Given the description of an element on the screen output the (x, y) to click on. 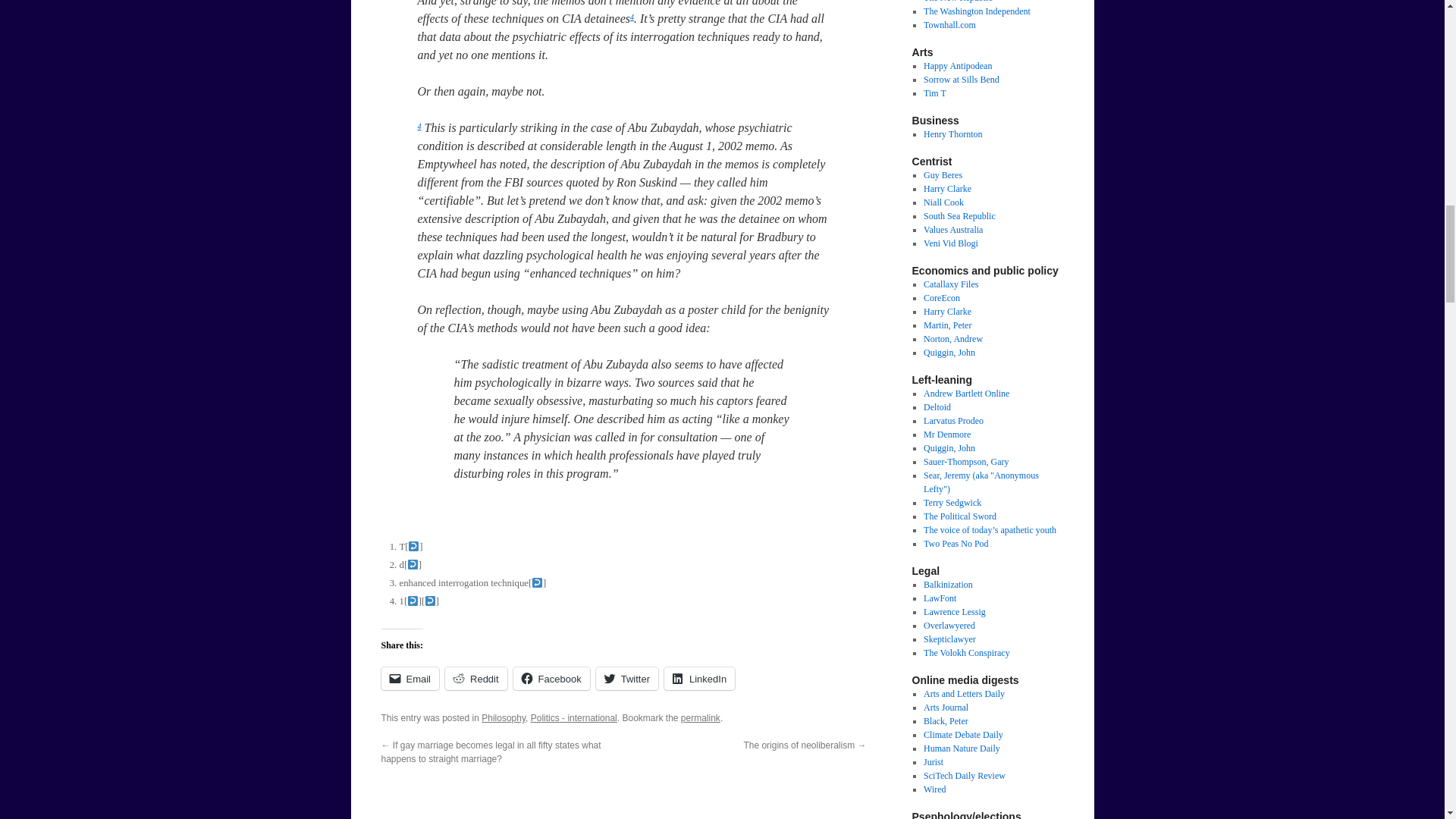
Facebook (551, 678)
Click to share on Twitter (626, 678)
permalink (700, 717)
Click to email a link to a friend (409, 678)
Click to share on Reddit (475, 678)
LinkedIn (699, 678)
Philosophy (503, 717)
Twitter (626, 678)
Click to share on Facebook (551, 678)
Email (409, 678)
